Given the description of an element on the screen output the (x, y) to click on. 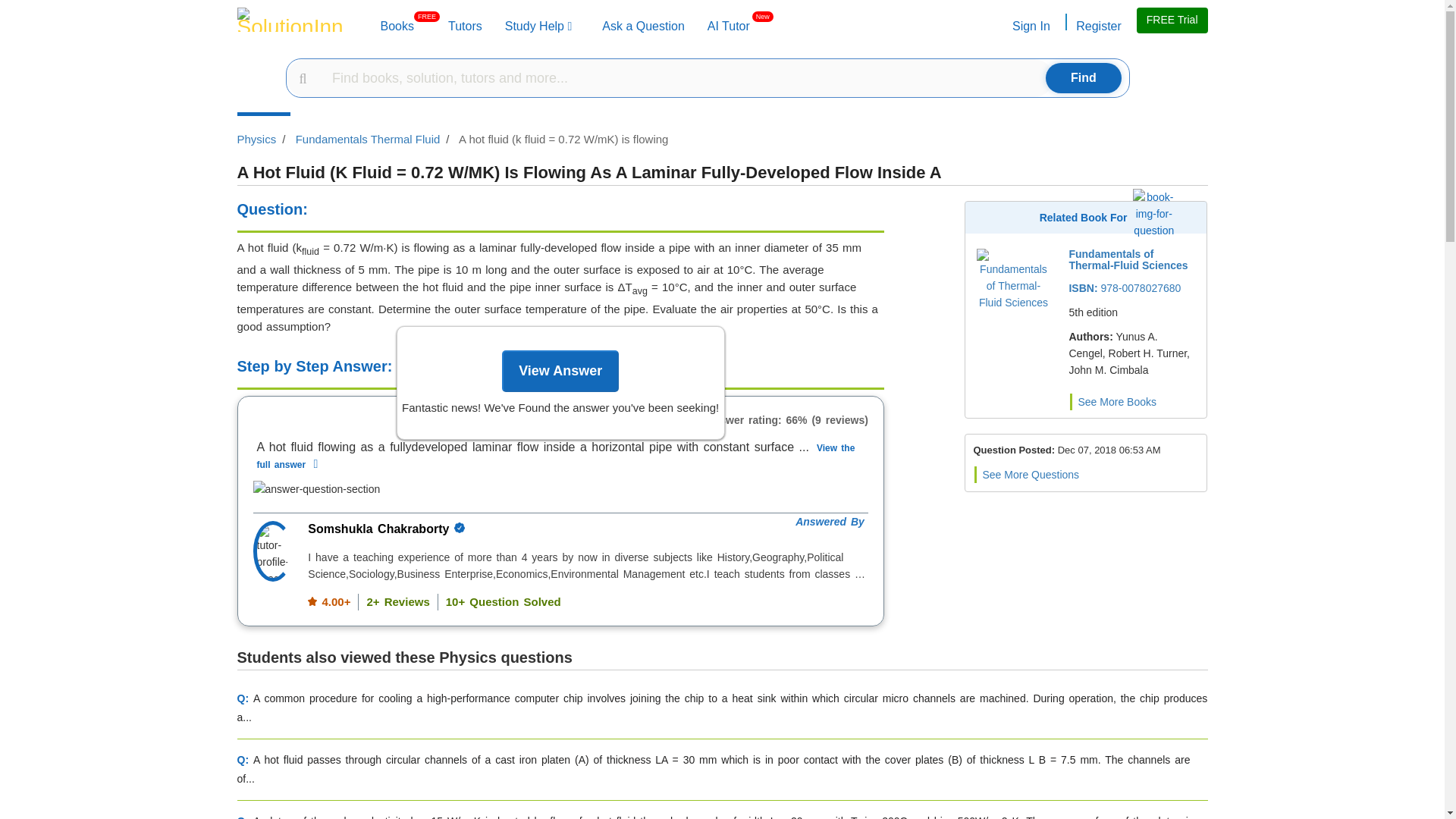
Ask a Question (643, 26)
Tutors (465, 26)
Ask a Question (643, 26)
Sign In (1029, 26)
Register (1097, 26)
Study Help (538, 26)
Tutors (397, 26)
Study Help (465, 26)
